Given the description of an element on the screen output the (x, y) to click on. 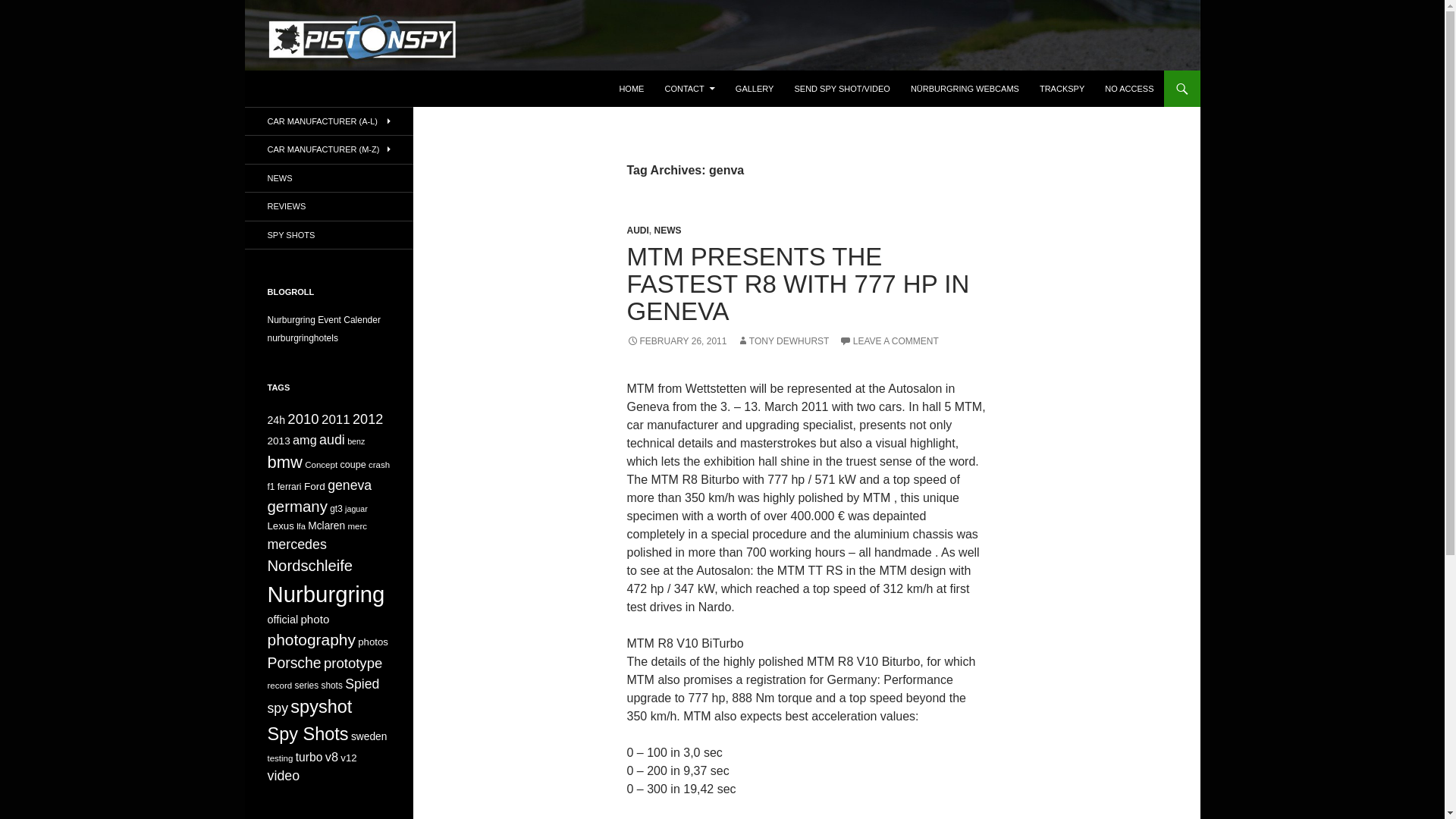
CONTACT (689, 88)
TONY DEWHURST (782, 340)
Pistonspy Nurburgring and Motorsport Photography and News (470, 88)
AUDI (636, 230)
MTM PRESENTS THE FASTEST R8 WITH 777 HP IN GENEVA (797, 283)
New Gallery (754, 88)
NO ACCESS (1128, 88)
FEBRUARY 26, 2011 (676, 340)
LEAVE A COMMENT (889, 340)
GALLERY (754, 88)
Touristen Fahrten Dates (323, 319)
Trackspy Dashcam (1061, 88)
Car Spy Shot Submission (841, 88)
